Given the description of an element on the screen output the (x, y) to click on. 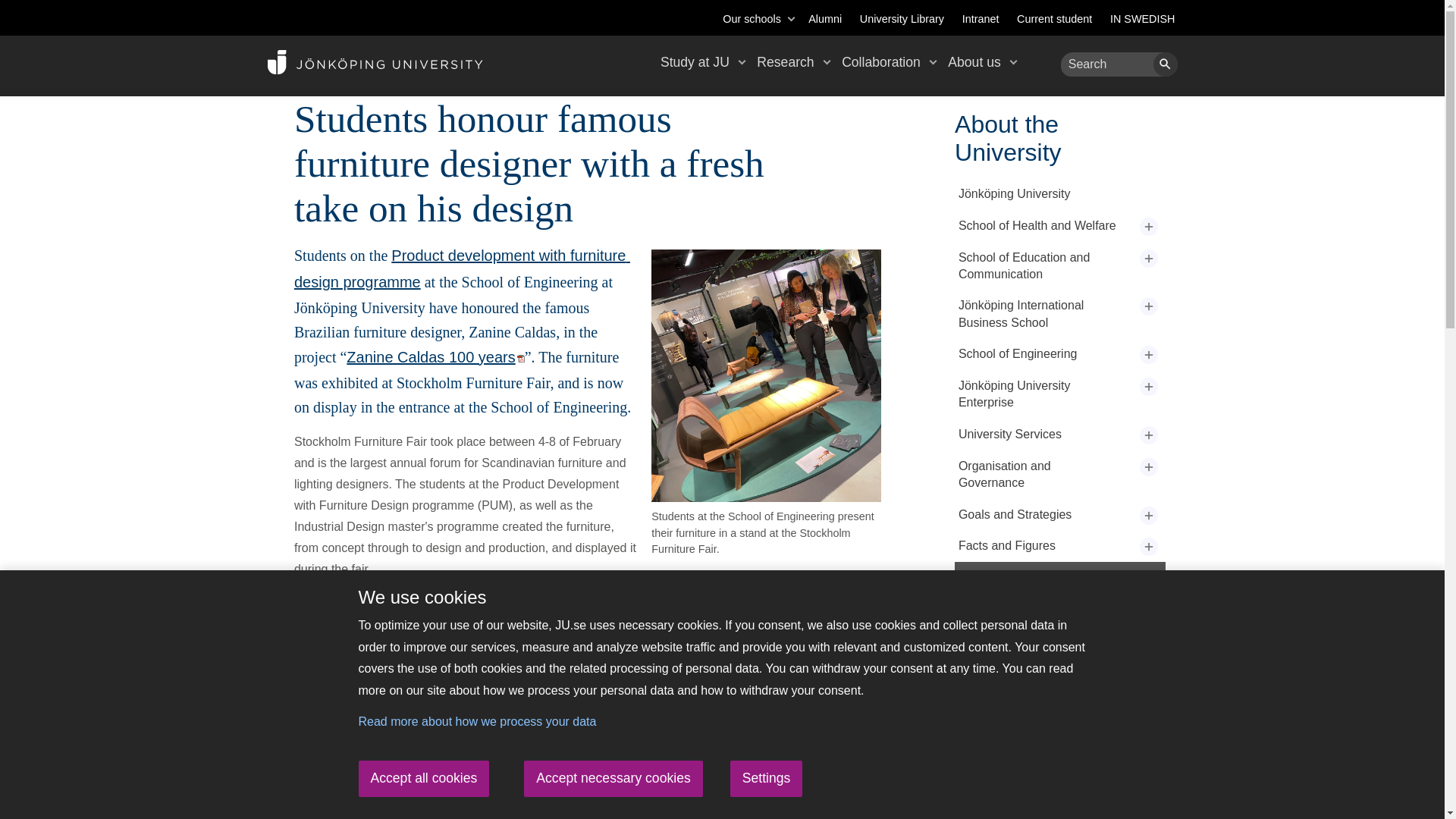
IN SWEDISH (1141, 19)
Expand submenu for Study at JU (741, 61)
IN SWEDISH (1141, 19)
Current student (1054, 19)
Read more about how we process your data (476, 721)
University Library (901, 19)
Alumni (824, 19)
Intranet (980, 19)
Accept necessary cookies (612, 778)
Search (1164, 64)
Accept all cookies (423, 778)
Intranet (980, 19)
Settings (766, 778)
Current student (1054, 19)
Expand submenu for Research (825, 61)
